Given the description of an element on the screen output the (x, y) to click on. 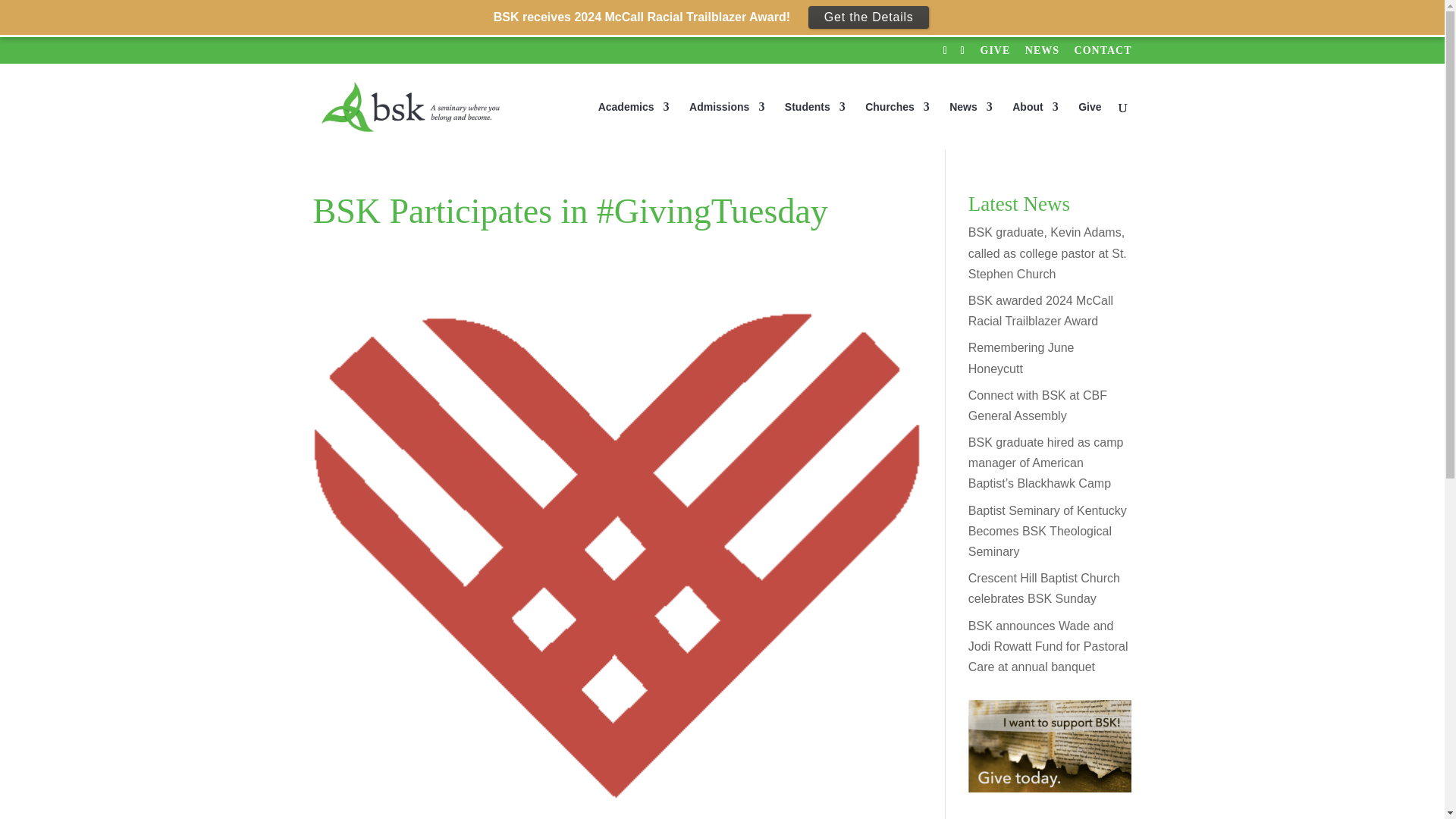
Admissions (726, 125)
CONTACT (1103, 54)
News (970, 125)
Students (814, 125)
Academics (633, 125)
Churches (897, 125)
GIVE (994, 54)
NEWS (1042, 54)
